Given the description of an element on the screen output the (x, y) to click on. 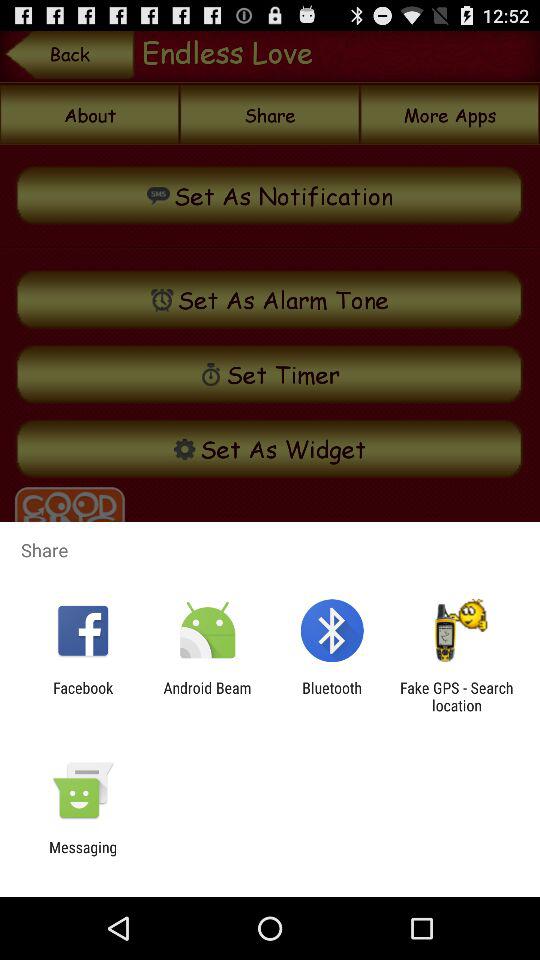
open the item to the right of the facebook item (207, 696)
